Given the description of an element on the screen output the (x, y) to click on. 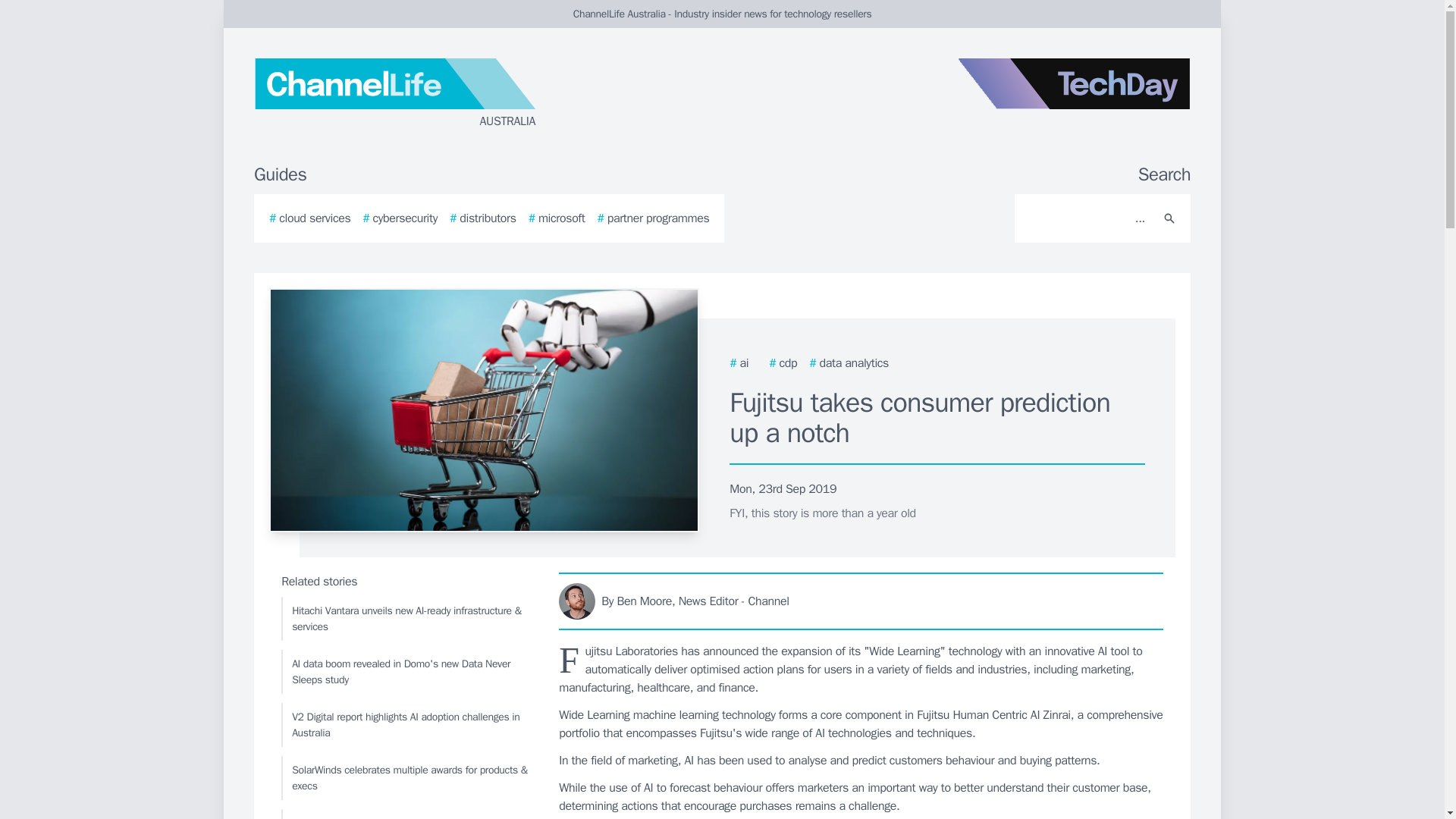
By Ben Moore, News Editor - Channel (861, 601)
AI data boom revealed in Domo's new Data Never Sleeps study (406, 671)
AUSTRALIA (435, 94)
